Given the description of an element on the screen output the (x, y) to click on. 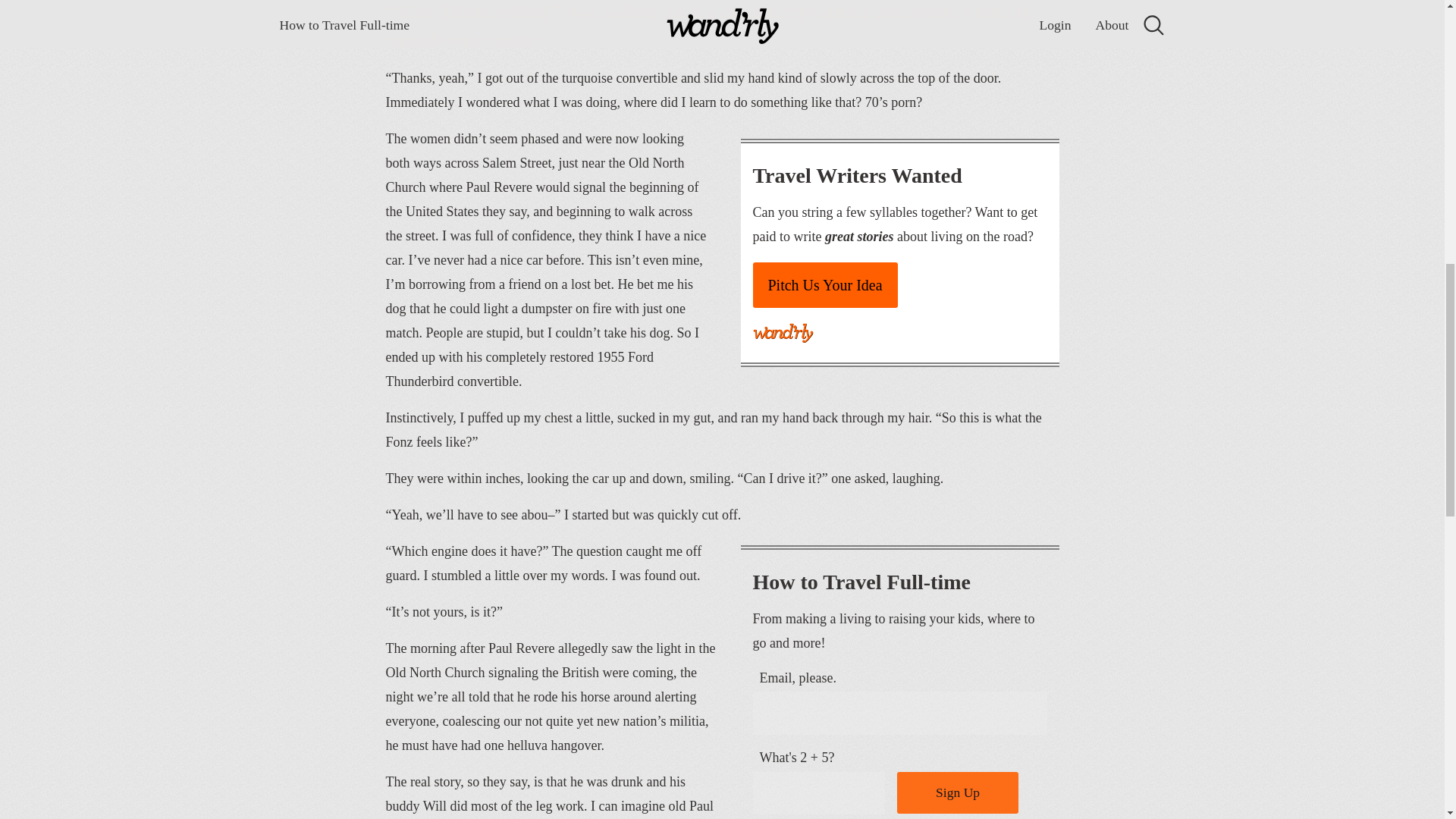
Pitch Us Your Idea (824, 284)
Sign Up (956, 793)
Sign Up (956, 793)
